Given the description of an element on the screen output the (x, y) to click on. 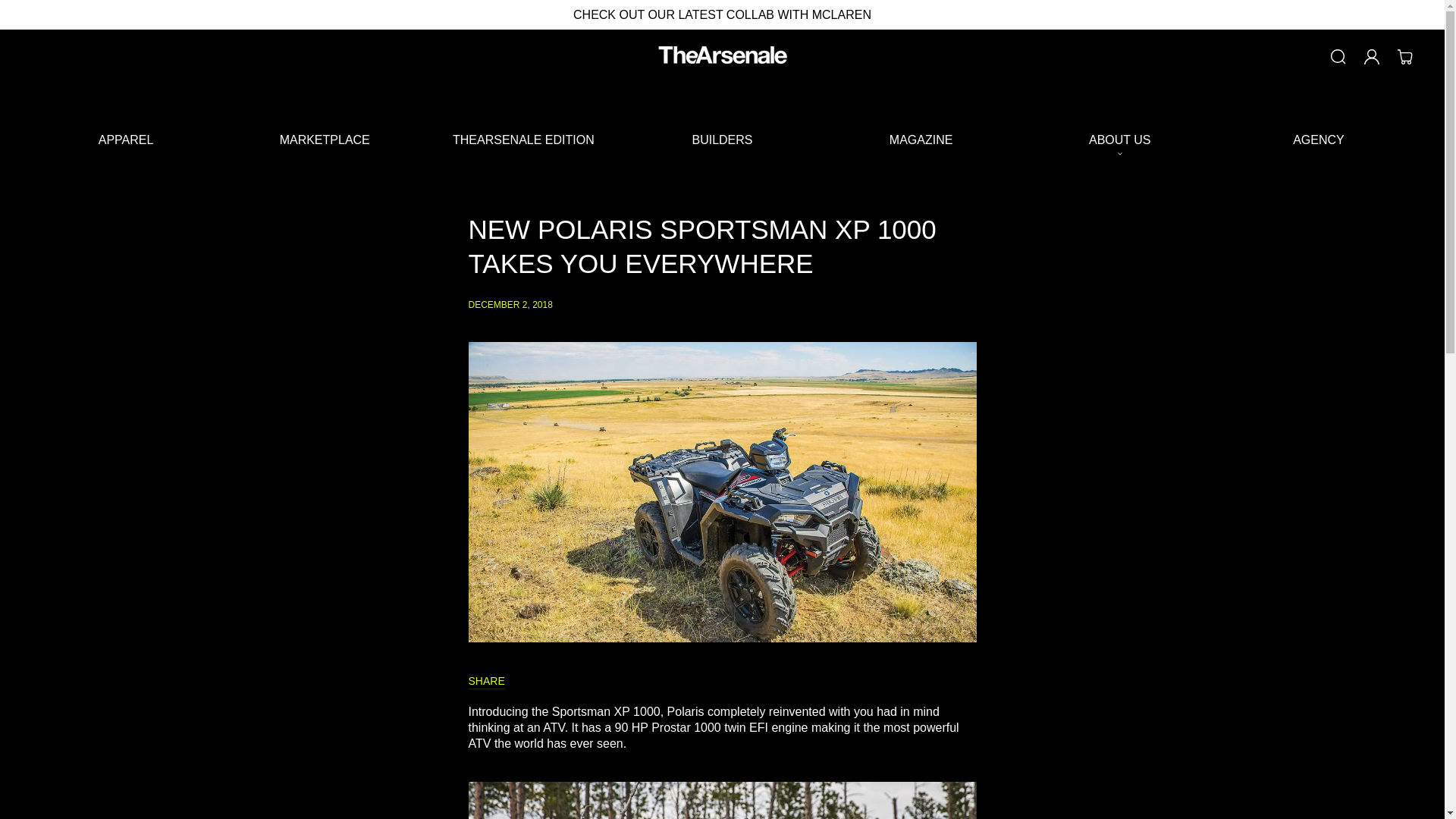
THEARSENALE EDITION (523, 139)
CHECK OUT OUR LATEST COLLAB WITH MCLAREN (721, 14)
MARKETPLACE (324, 139)
Cart (1405, 55)
SKIP TO CONTENT (29, 18)
Log in (1372, 55)
APPAREL (125, 139)
